Given the description of an element on the screen output the (x, y) to click on. 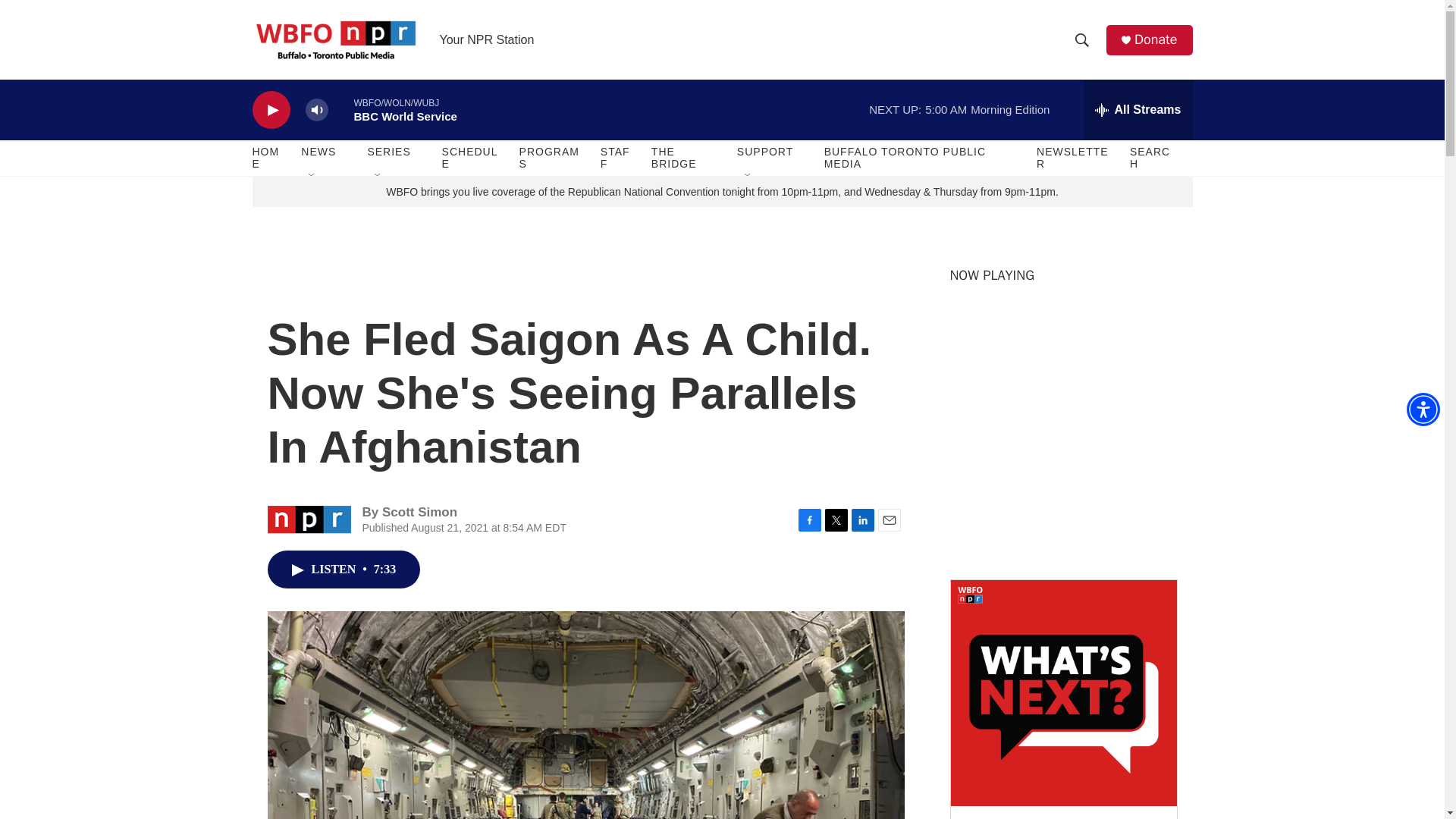
Accessibility Menu (1422, 409)
3rd party ad content (1062, 453)
